Given the description of an element on the screen output the (x, y) to click on. 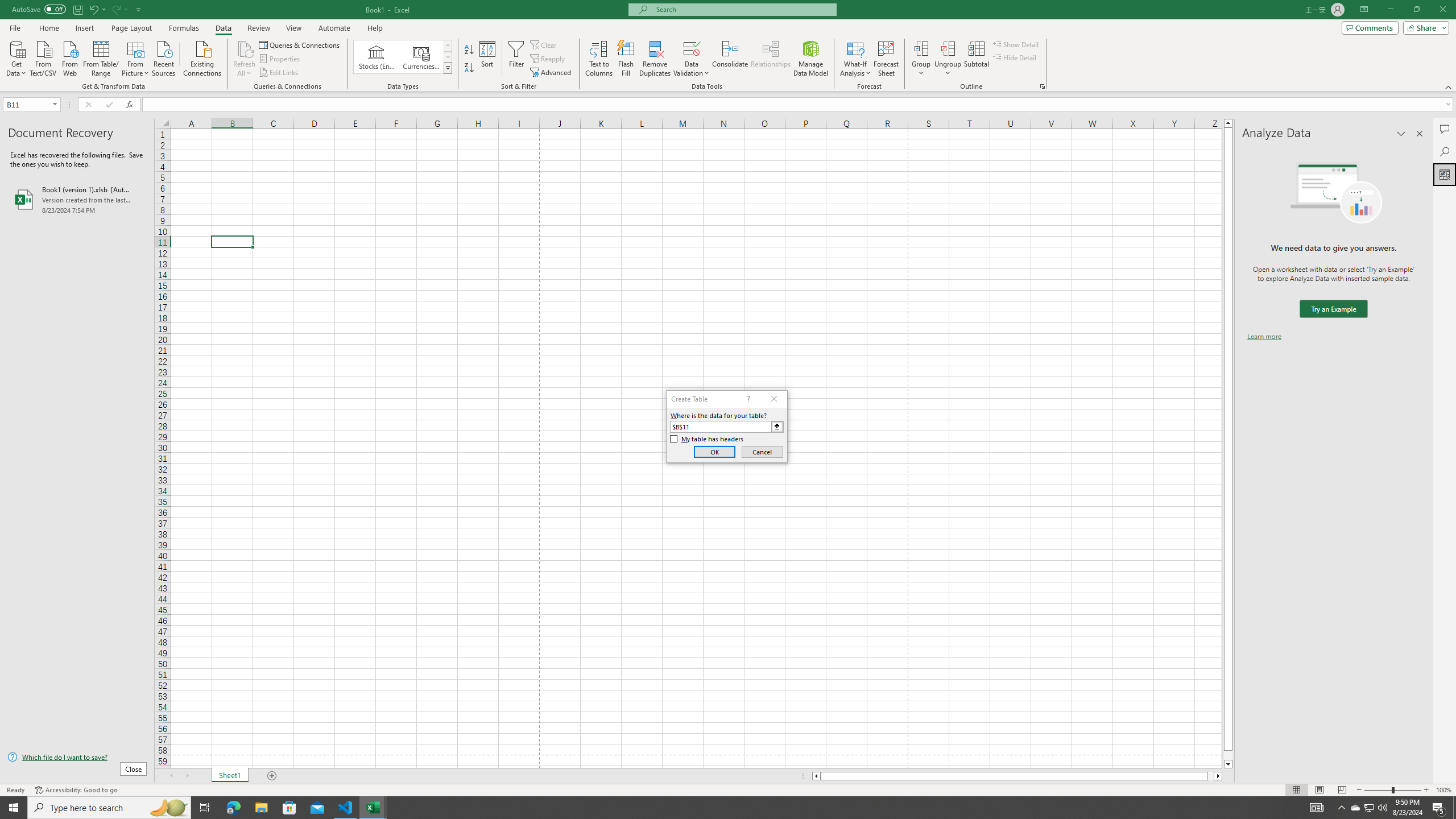
Page down (1228, 755)
Automate (334, 28)
Ribbon Display Options (1364, 9)
From Picture (135, 57)
Get Data (16, 57)
Flash Fill (625, 58)
Remove Duplicates (654, 58)
Class: MsoCommandBar (728, 45)
Scroll Left (171, 775)
Data Types (448, 67)
Zoom Out (1377, 790)
Book1 (version 1).xlsb  [AutoRecovered] (77, 199)
Text to Columns... (598, 58)
Reapply (548, 58)
